Given the description of an element on the screen output the (x, y) to click on. 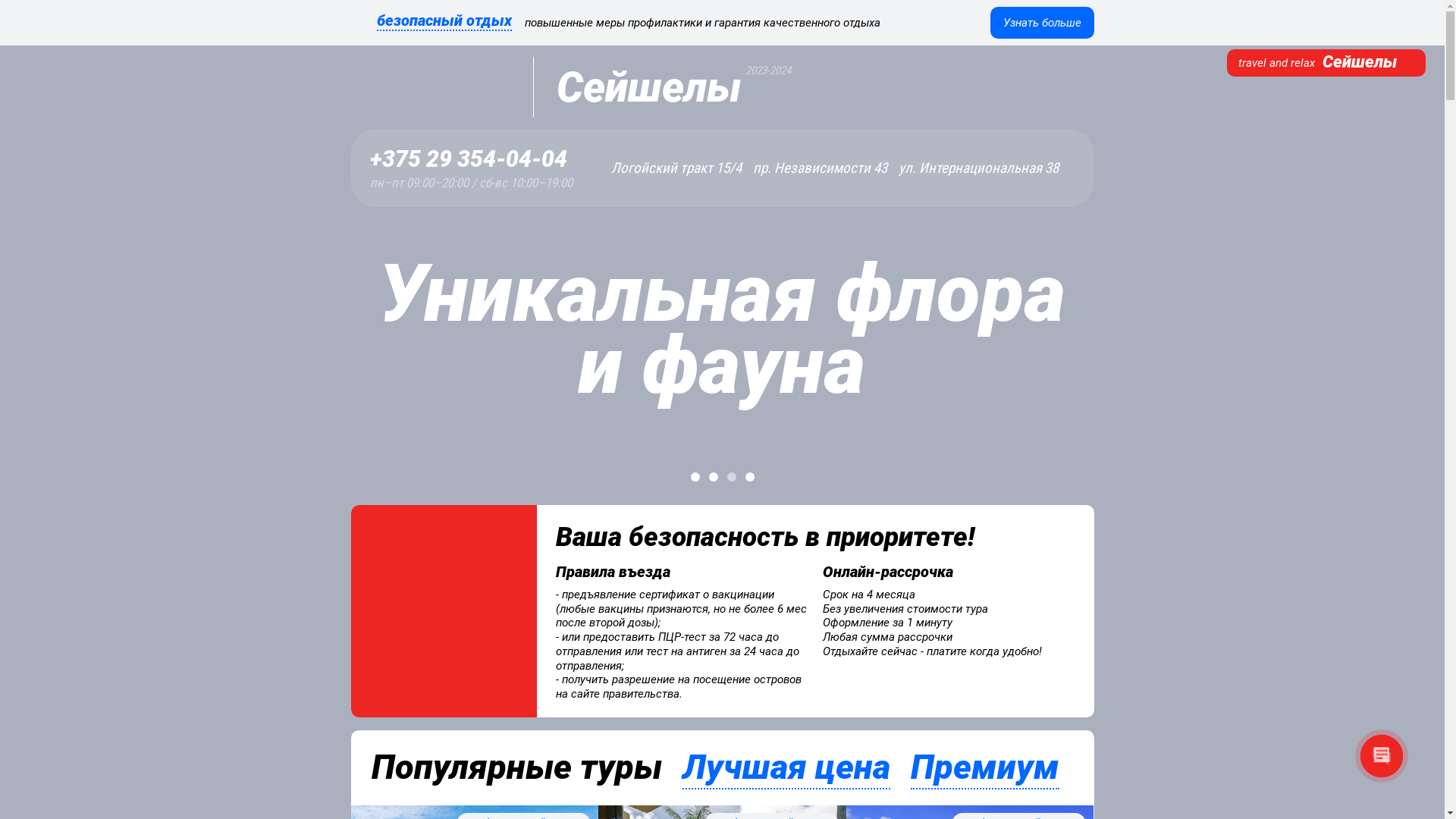
+375 29 354-04-04 Element type: text (471, 159)
Travel House Element type: text (441, 86)
